Given the description of an element on the screen output the (x, y) to click on. 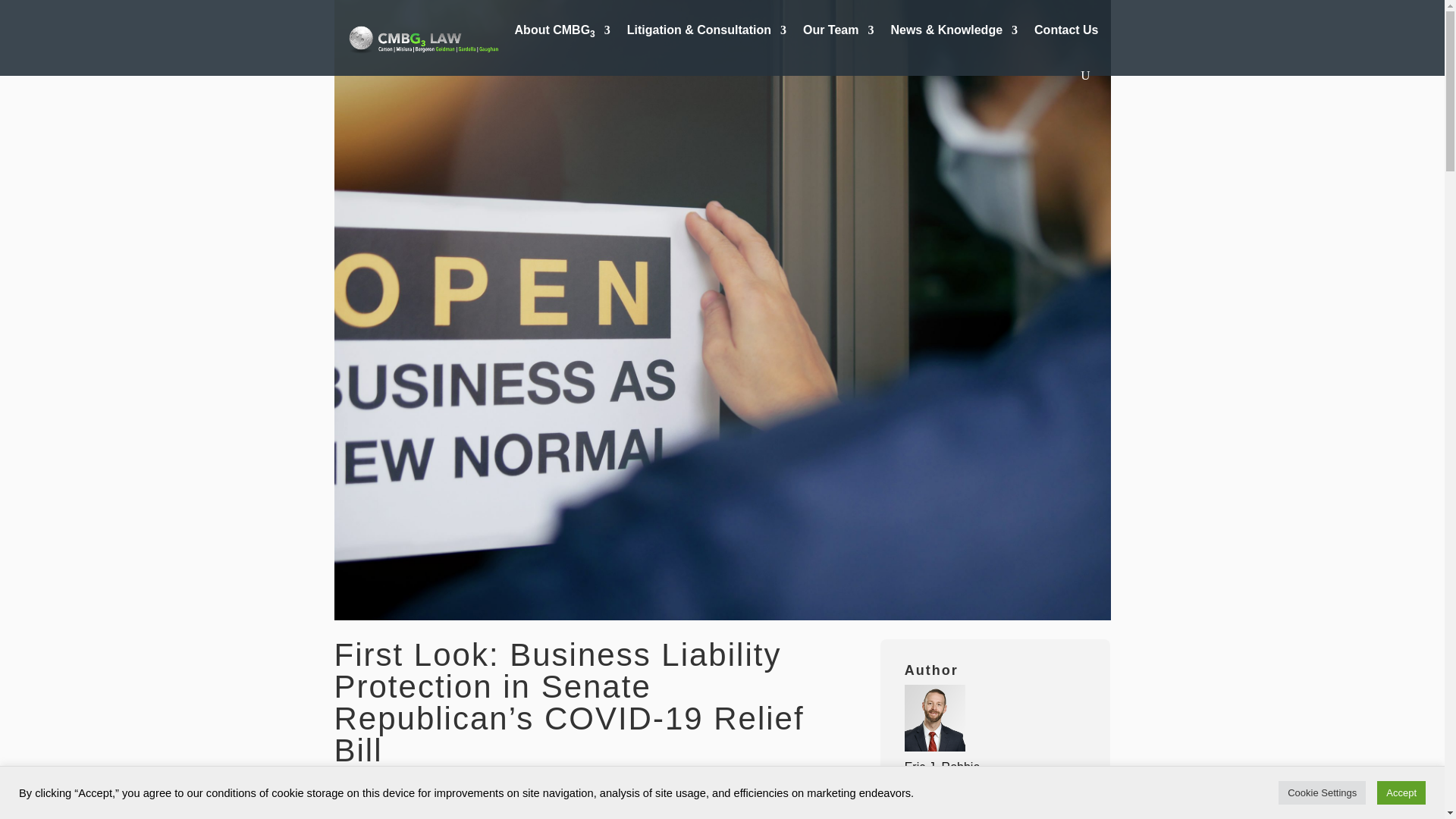
About CMBG3 (562, 33)
Our Team (839, 33)
logo-CMBG3-Web (426, 37)
Eric J. Robbie (941, 766)
